Given the description of an element on the screen output the (x, y) to click on. 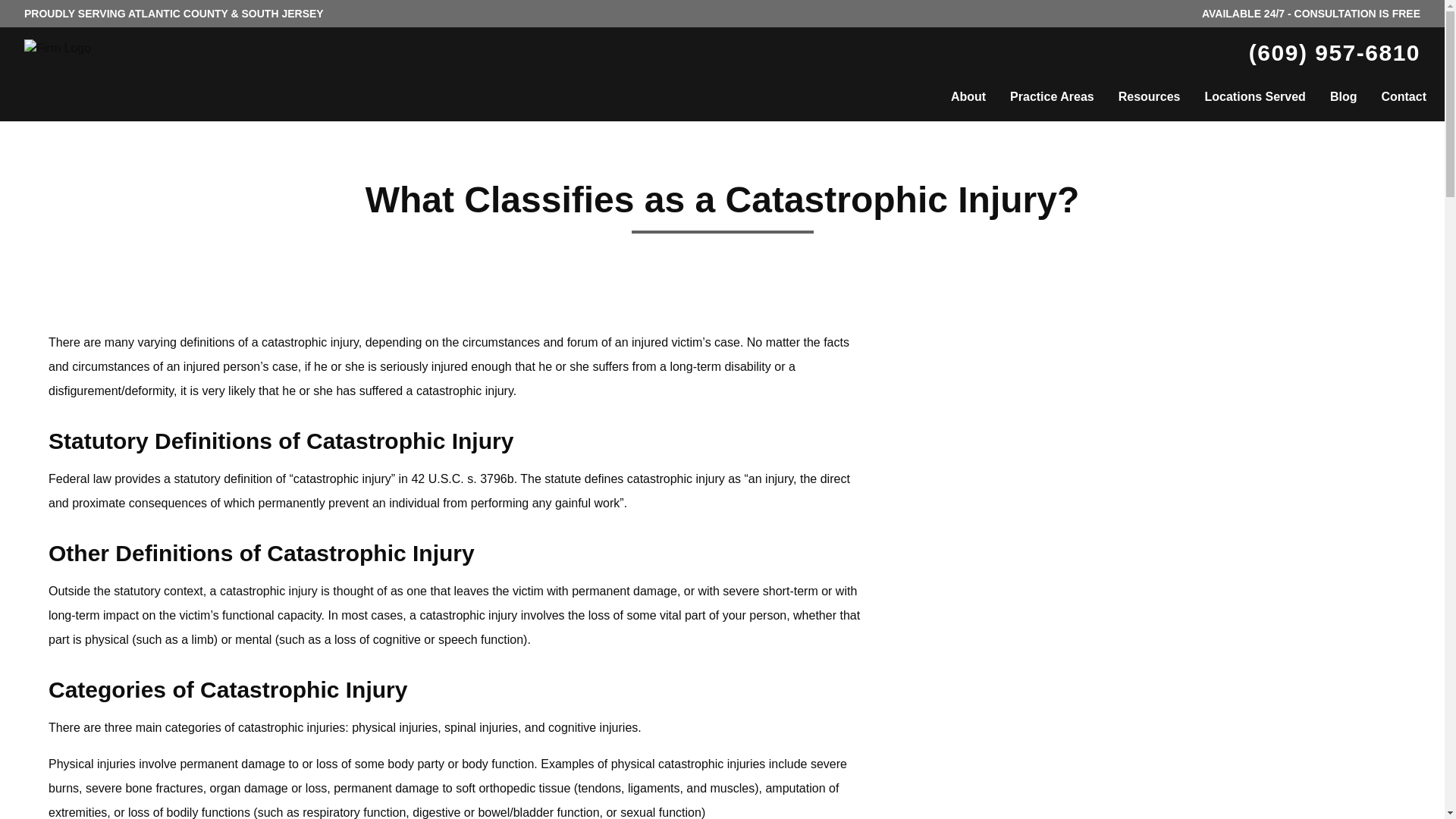
About (968, 96)
Blog (1343, 96)
Contact (1403, 96)
